Given the description of an element on the screen output the (x, y) to click on. 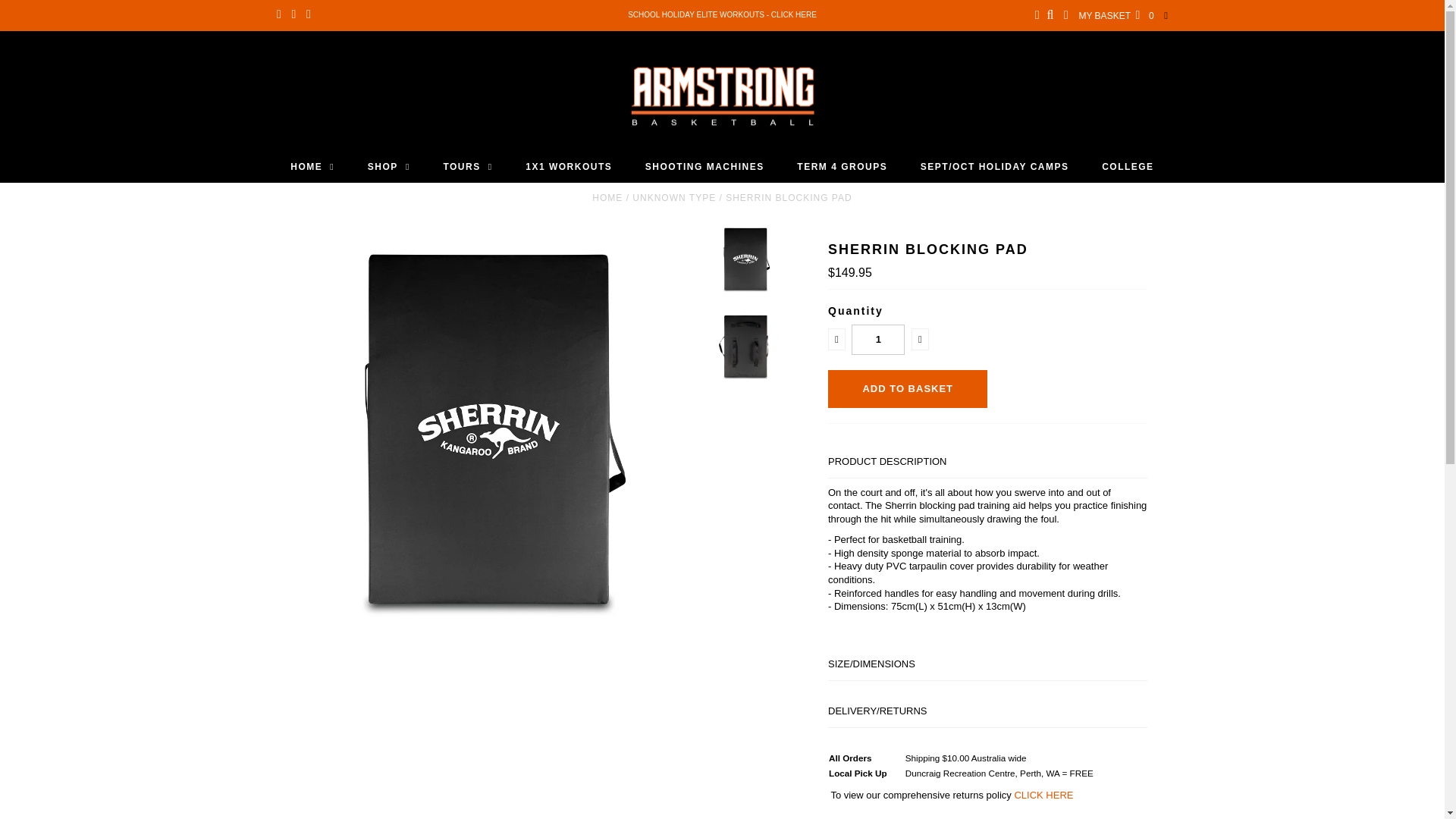
SCHOOL HOLIDAY ELITE WORKOUTS - CLICK HERE (721, 14)
Add to Basket (907, 388)
1 (877, 339)
Home (607, 197)
MY BASKET    0 (1115, 15)
